Given the description of an element on the screen output the (x, y) to click on. 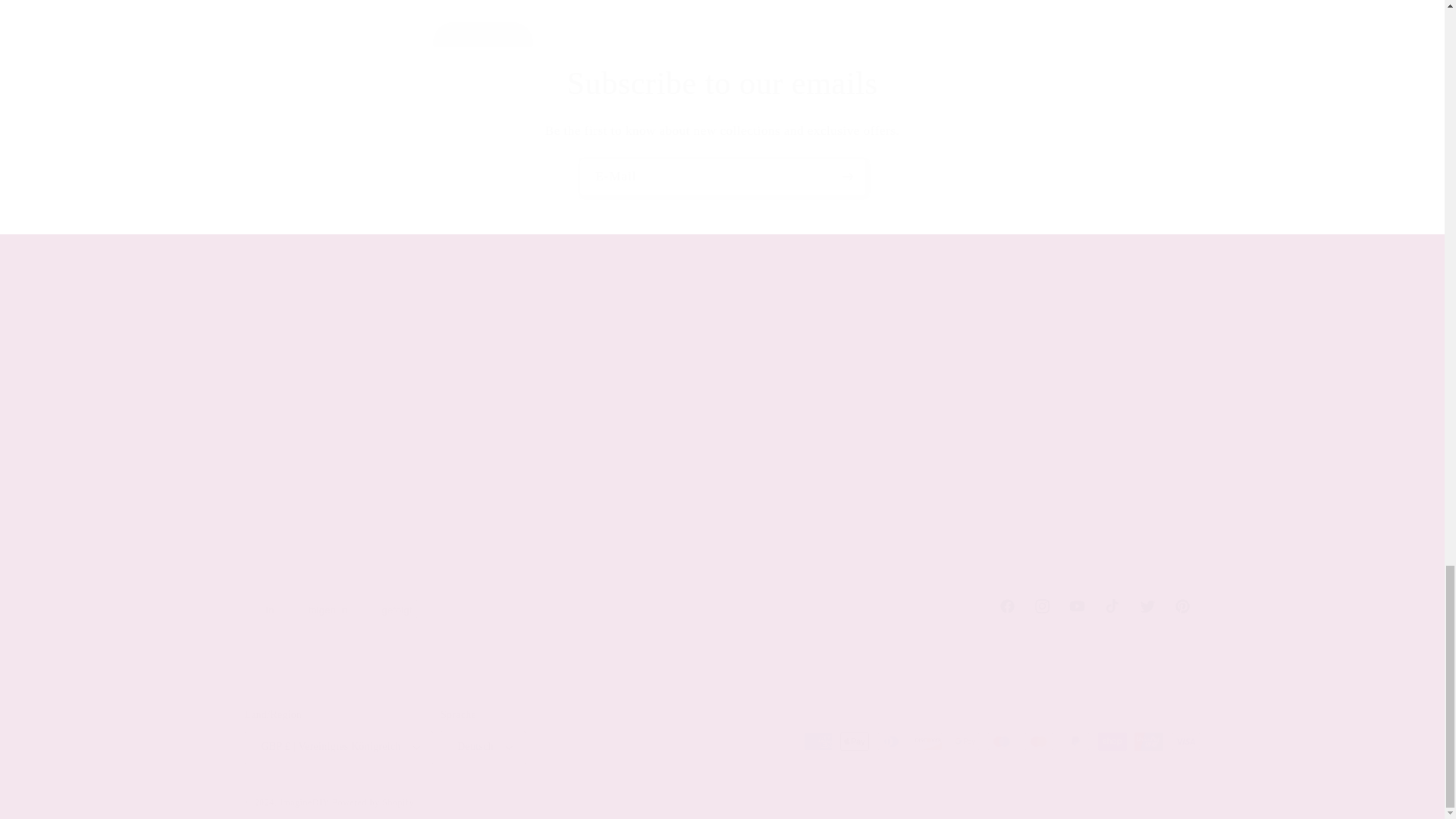
Subscribe to our emails (722, 83)
E-Mail (721, 606)
tel:01437 721511 (722, 176)
